Given the description of an element on the screen output the (x, y) to click on. 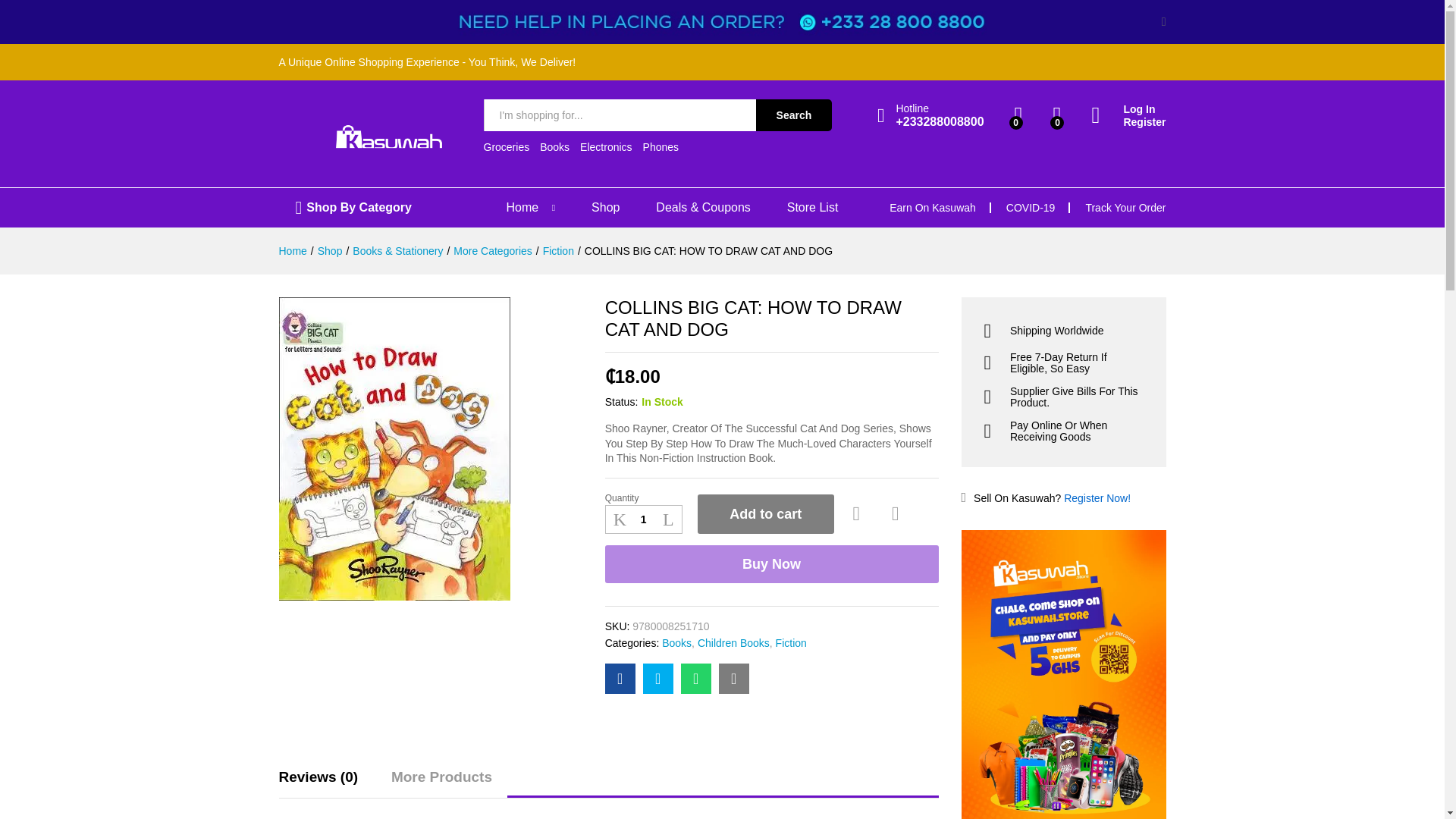
COLLINS BIG CAT: HOW TO DRAW  CAT AND DOG (619, 678)
1 (643, 519)
COLLINS BIG CAT: HOW TO DRAW  CAT AND DOG (696, 678)
COLLINS BIG CAT: HOW TO DRAW  CAT AND DOG (734, 678)
Qty (643, 519)
